Given the description of an element on the screen output the (x, y) to click on. 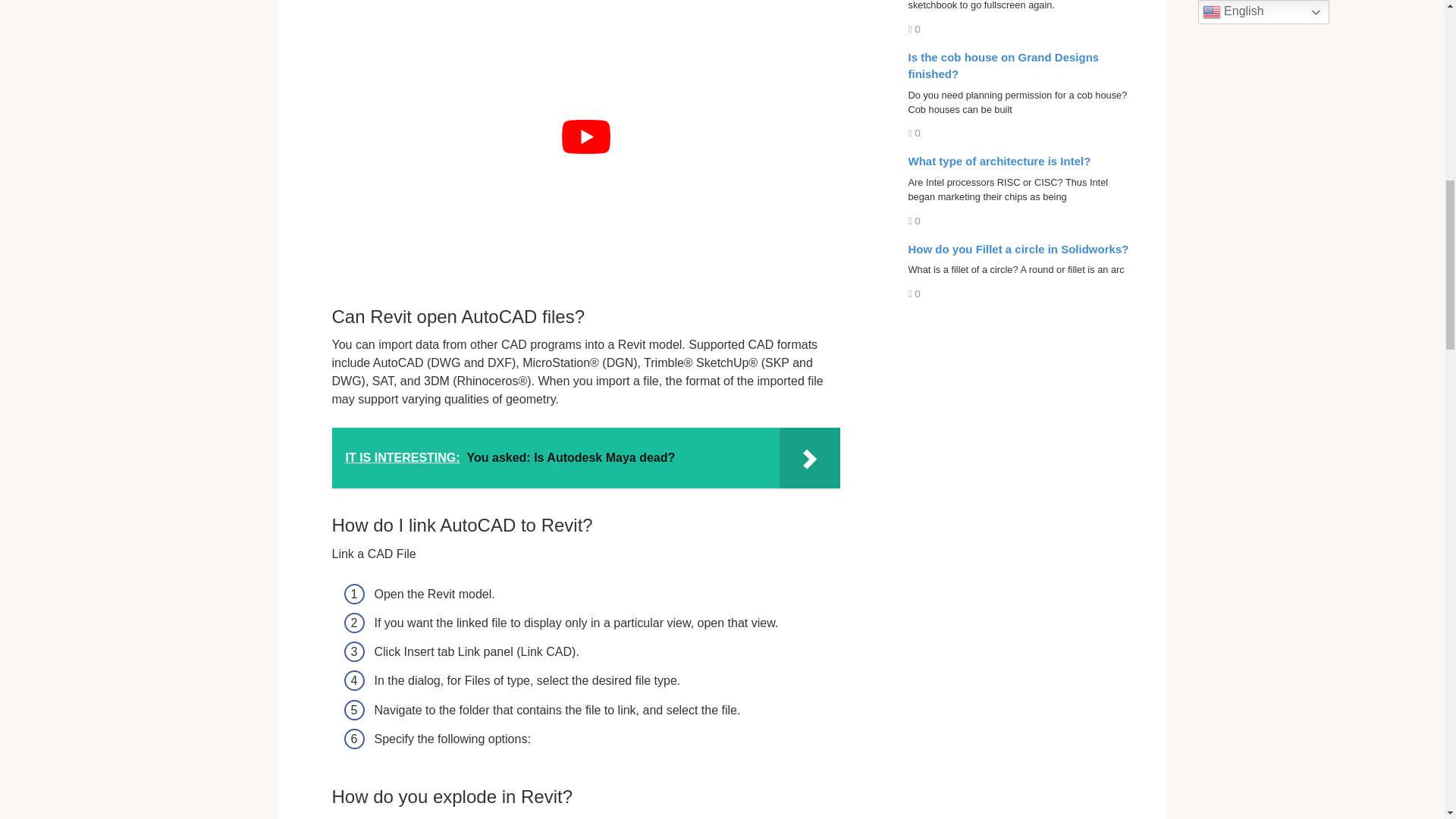
IT IS INTERESTING:  You asked: Is Autodesk Maya dead? (585, 457)
Comments (914, 132)
Comments (914, 29)
Comments (914, 293)
Comments (914, 220)
